Given the description of an element on the screen output the (x, y) to click on. 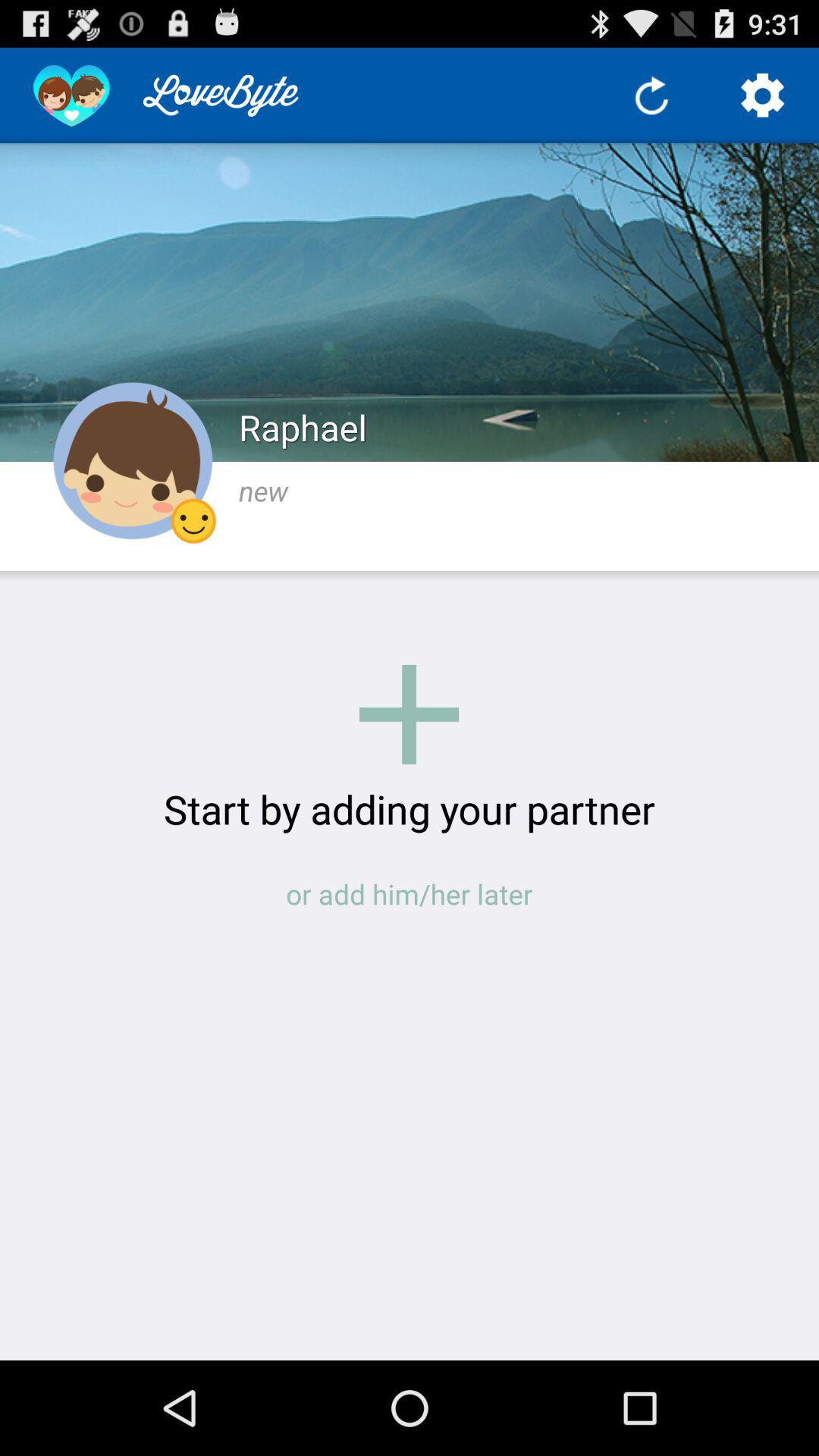
turn off the start by adding (409, 808)
